Given the description of an element on the screen output the (x, y) to click on. 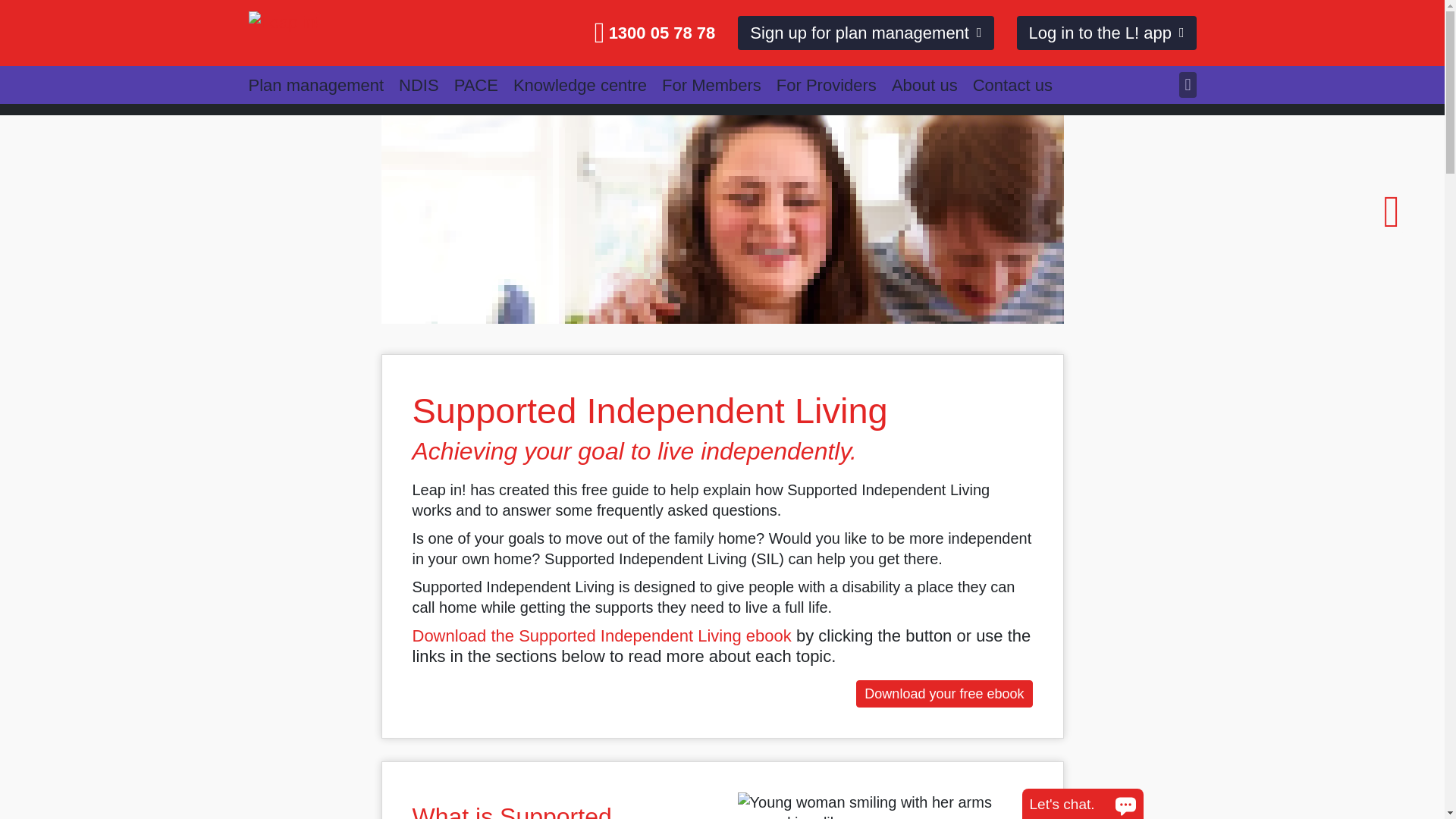
PACE (483, 84)
Knowledge centre (587, 84)
Plan management (323, 84)
Log in to the L! app (1106, 32)
For Members (719, 84)
Sign up for plan management (865, 32)
NDIS (426, 84)
